Given the description of an element on the screen output the (x, y) to click on. 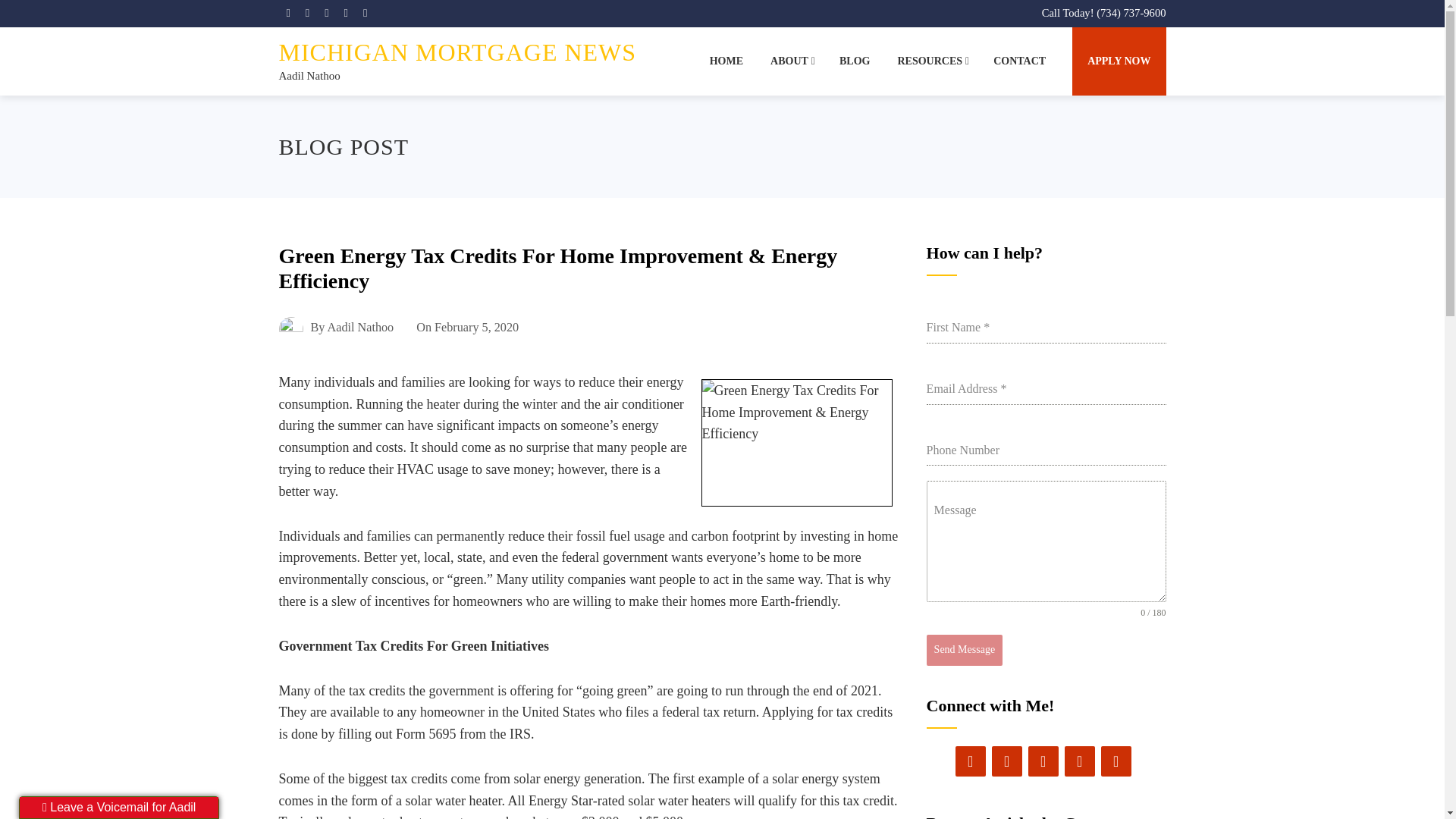
RESOURCES (930, 61)
Aadil Nathoo (309, 75)
BLOG (854, 61)
MICHIGAN MORTGAGE NEWS (458, 52)
HOME (726, 61)
CONTACT (1019, 61)
ABOUT (791, 61)
